Given the description of an element on the screen output the (x, y) to click on. 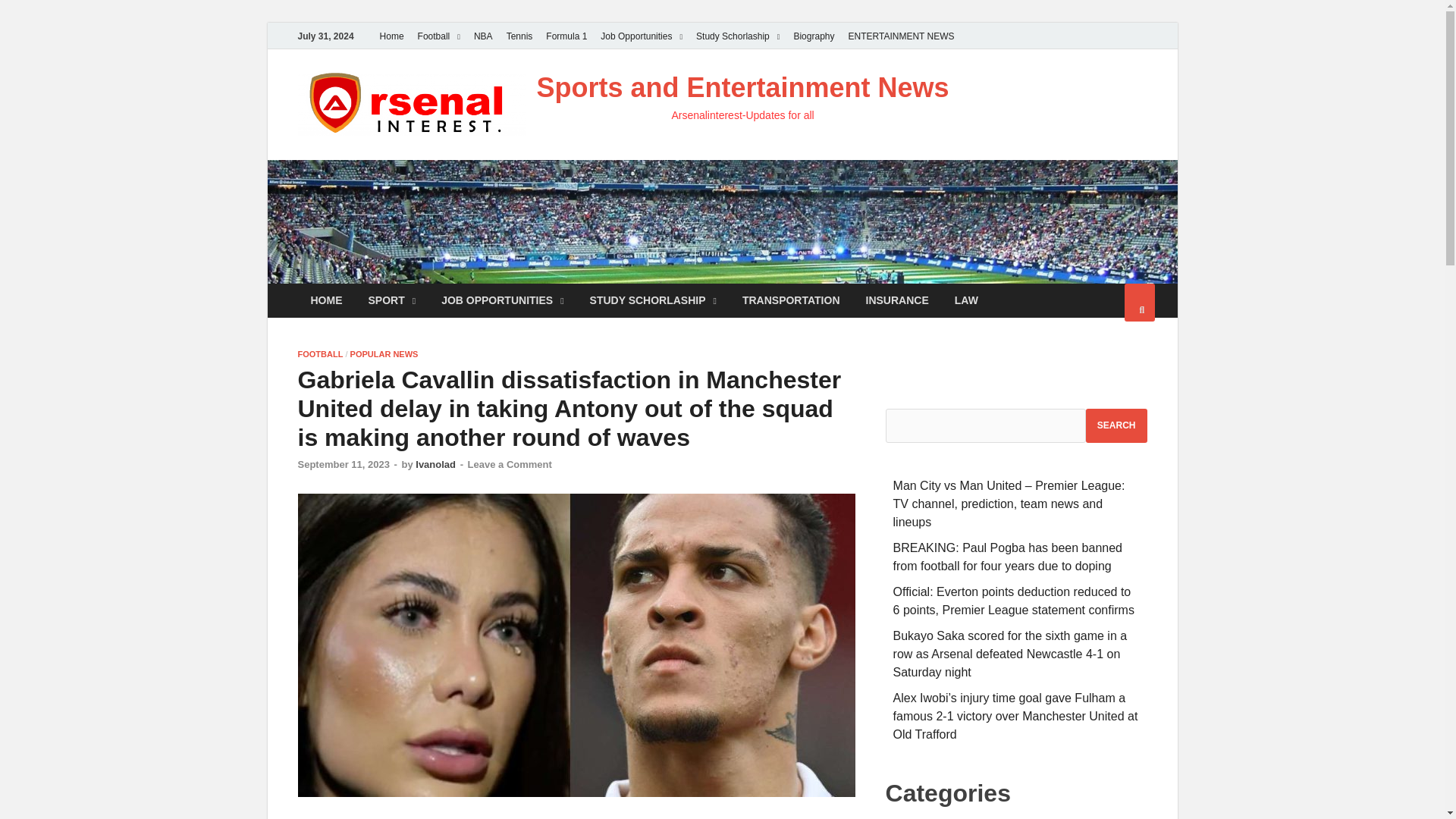
SPORT (391, 300)
Biography (813, 35)
Sports and Entertainment News (743, 87)
Home (391, 35)
STUDY SCHORLASHIP (652, 300)
INSURANCE (897, 300)
HOME (326, 300)
NBA (483, 35)
Formula 1 (566, 35)
Tennis (519, 35)
